Given the description of an element on the screen output the (x, y) to click on. 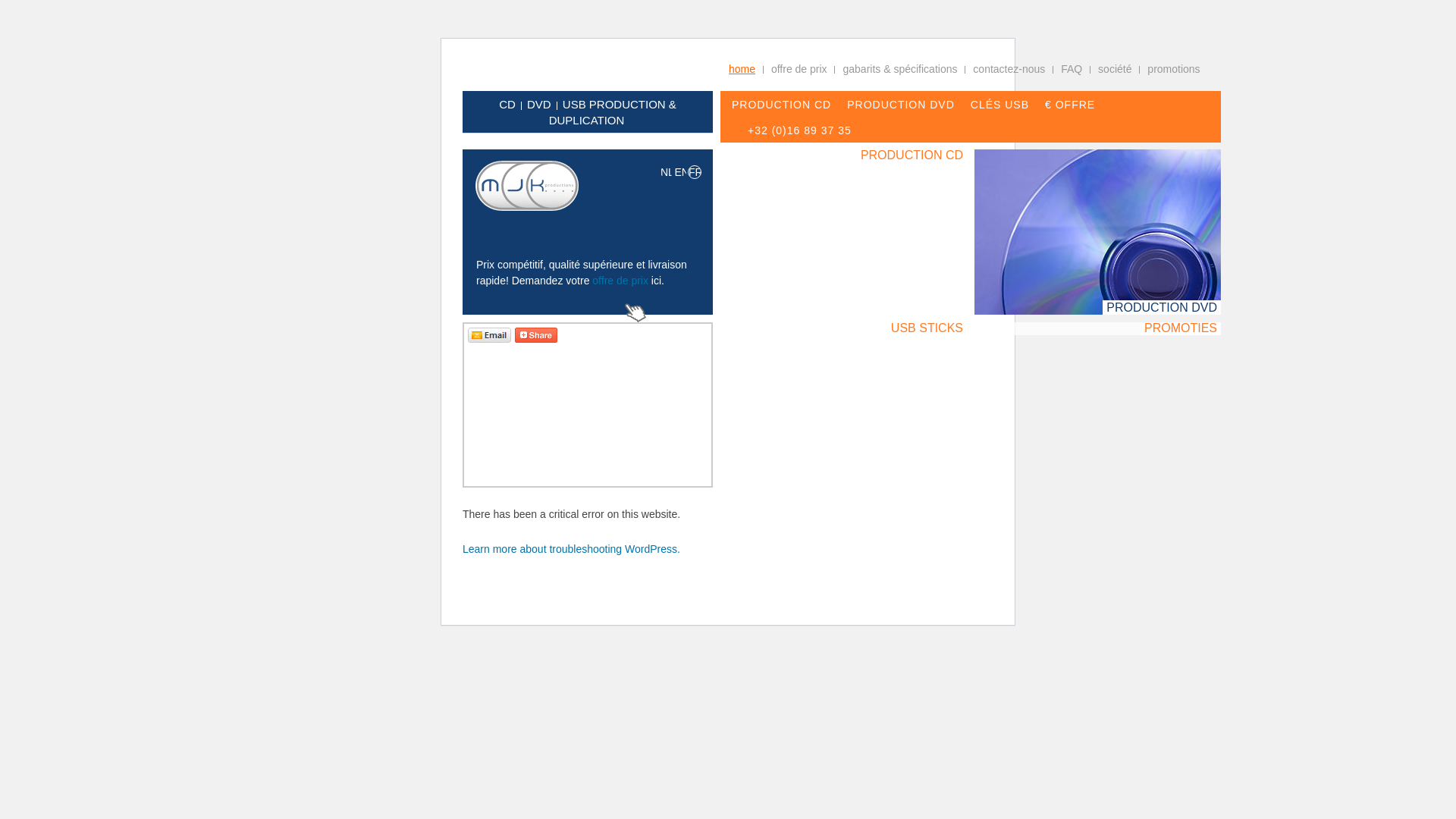
+32 (0)16 89 37 35 Element type: text (799, 130)
PRODUCTION CD Element type: text (781, 104)
EN Element type: text (680, 171)
promotions Element type: text (1173, 68)
USB PRODUCTION & DUPLICATION Element type: text (612, 111)
MJK Disc Productions Element type: text (526, 185)
FAQ Element type: text (1071, 68)
DVD Element type: text (539, 103)
NL Element type: text (666, 171)
offre de prix Element type: text (620, 280)
contactez-nous Element type: text (1008, 68)
home Element type: text (741, 68)
PRODUCTION DVD Element type: text (900, 104)
FR Element type: text (694, 171)
CD Element type: text (506, 103)
Learn more about troubleshooting WordPress. Element type: text (571, 548)
offre de prix Element type: text (799, 68)
